Given the description of an element on the screen output the (x, y) to click on. 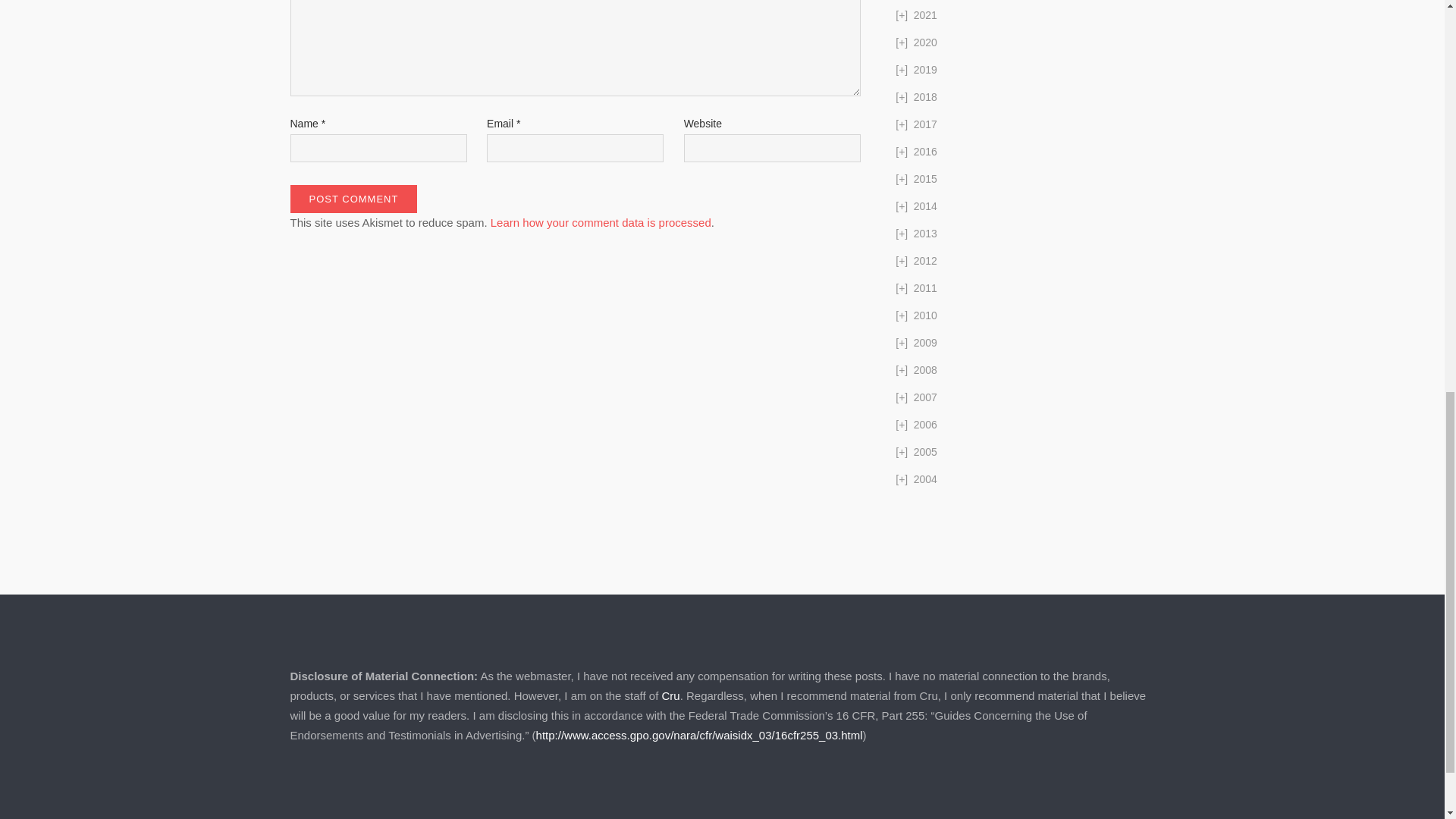
Post Comment (352, 198)
Post Comment (352, 198)
Learn how your comment data is processed (600, 222)
